Given the description of an element on the screen output the (x, y) to click on. 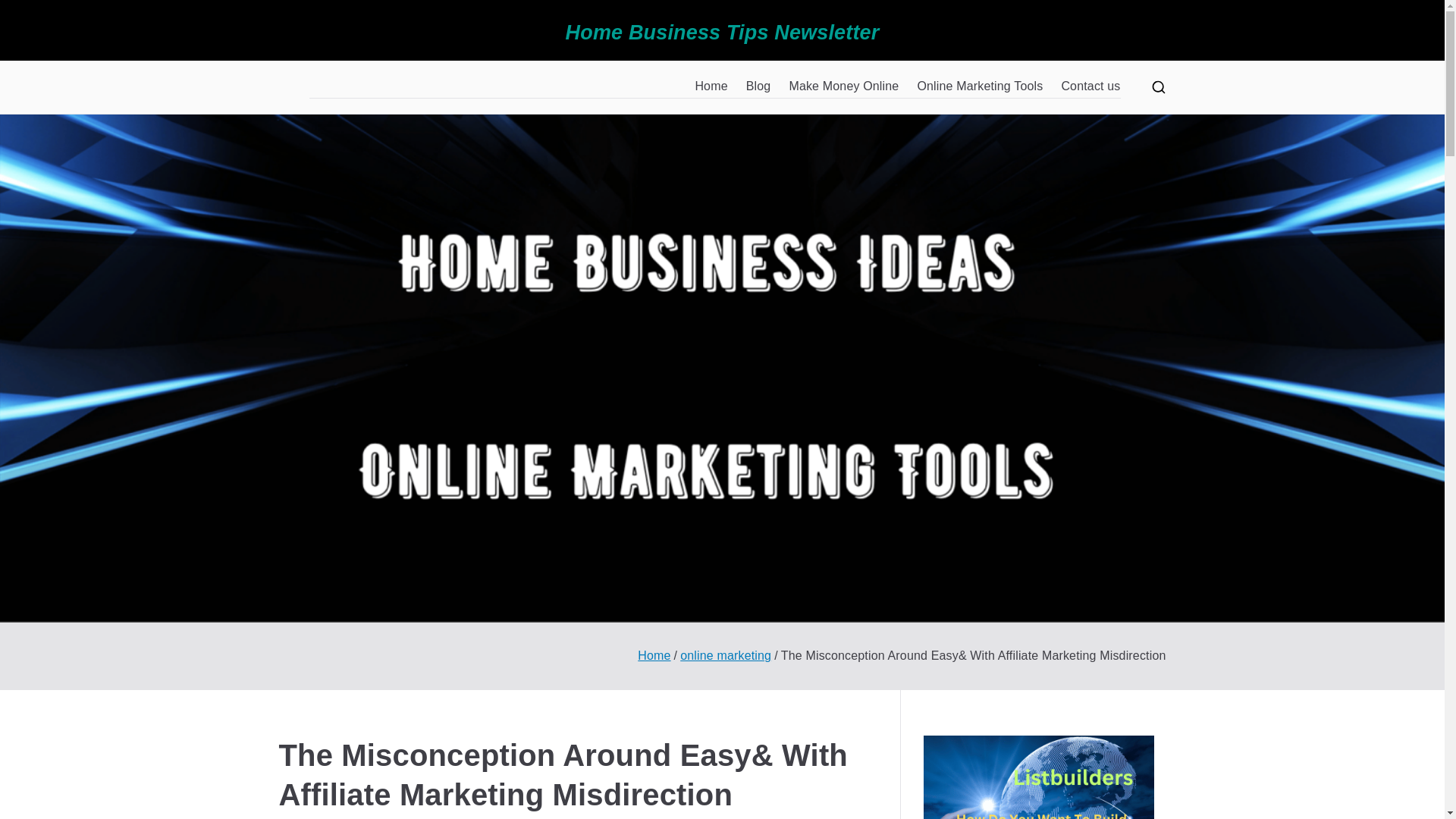
Make Money Online (843, 86)
Home Business Tips Newsletter (722, 32)
online marketing (725, 655)
Search (26, 12)
Blog (758, 86)
Contact us (1090, 86)
HOME BUSINESS IDEAS (364, 97)
Home (653, 655)
Online Marketing Tools (979, 86)
Home (710, 86)
